Given the description of an element on the screen output the (x, y) to click on. 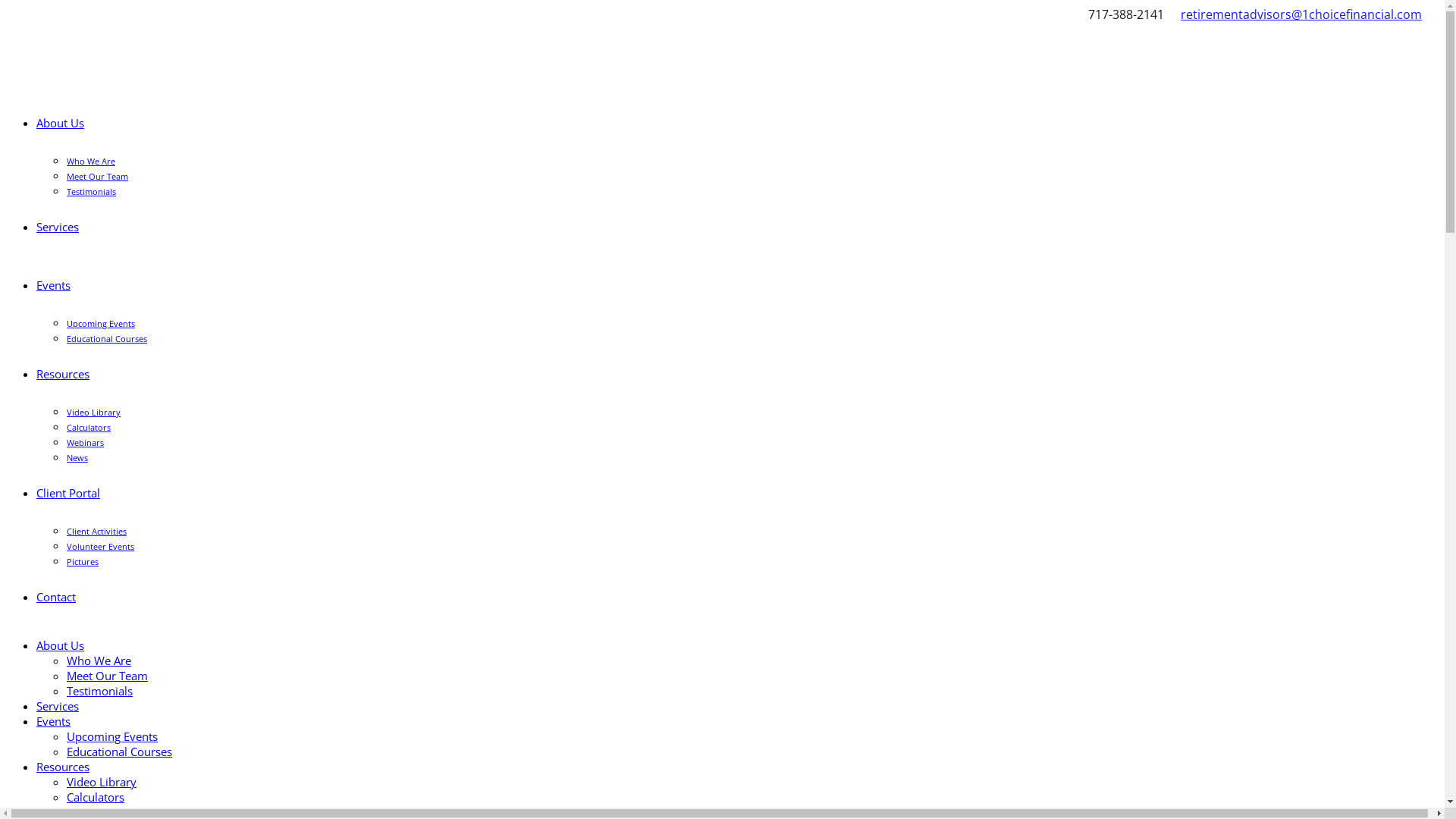
News Element type: text (76, 457)
1st Choice Financial Services, Inc. Element type: hover (13, 20)
Webinars Element type: text (84, 442)
Services Element type: text (57, 705)
Video Library Element type: text (101, 781)
Services Element type: text (57, 226)
Who We Are Element type: text (90, 160)
Events Element type: text (53, 284)
Who We Are Element type: text (98, 660)
About Us Element type: text (60, 644)
About Us Element type: text (60, 122)
Educational Courses Element type: text (119, 751)
Meet Our Team Element type: text (106, 675)
Video Library Element type: text (93, 411)
Meet Our Team Element type: text (97, 176)
Pictures Element type: text (82, 561)
Calculators Element type: text (88, 427)
Upcoming Events Element type: text (100, 323)
Resources Element type: text (62, 766)
Events Element type: text (53, 720)
Calculators Element type: text (95, 796)
Contact Element type: text (55, 596)
Client Activities Element type: text (96, 530)
Resources Element type: text (62, 373)
Testimonials Element type: text (99, 690)
Volunteer Events Element type: text (100, 546)
Upcoming Events Element type: text (111, 735)
Testimonials Element type: text (91, 191)
Educational Courses Element type: text (106, 338)
Client Portal Element type: text (68, 492)
retirementadvisors@1choicefinancial.com Element type: text (1300, 14)
